Given the description of an element on the screen output the (x, y) to click on. 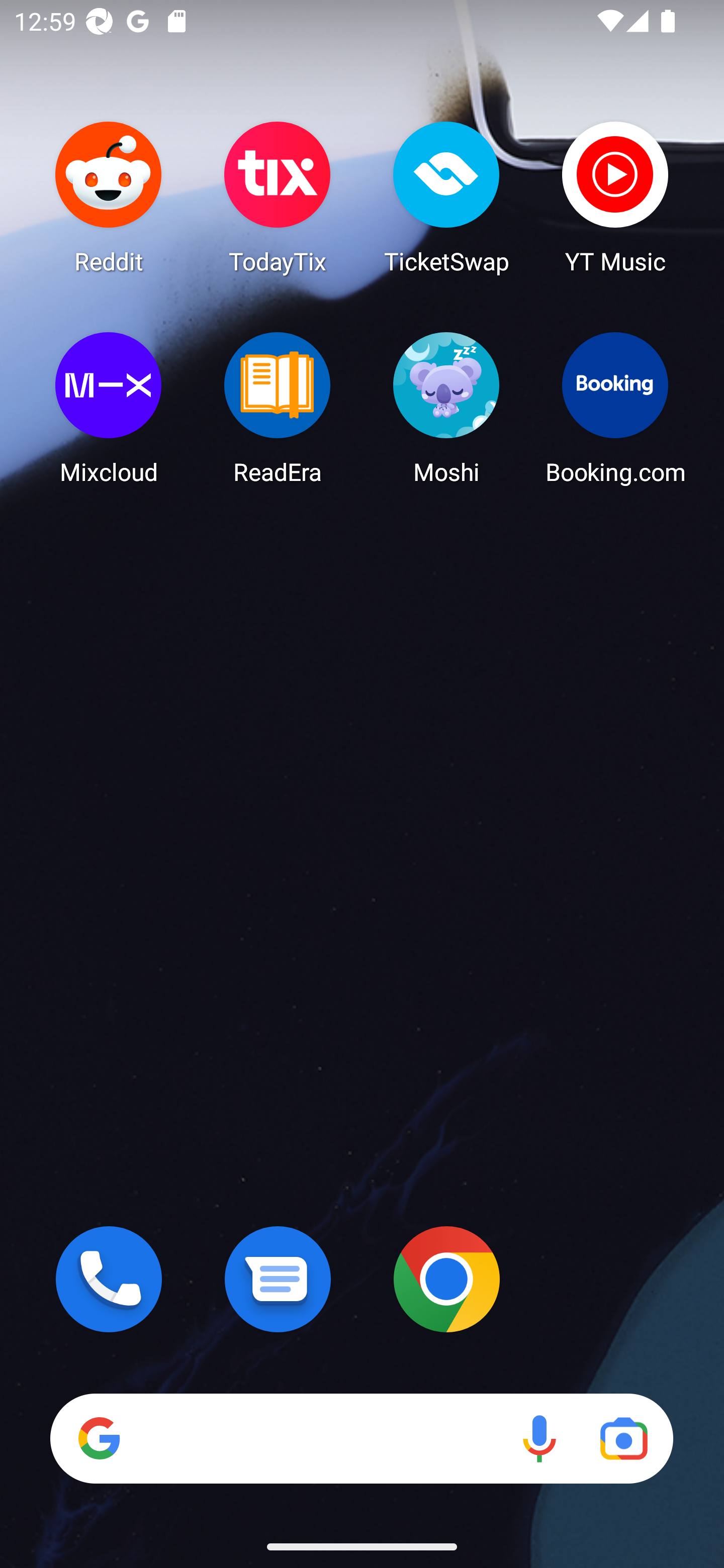
Reddit (108, 196)
TodayTix (277, 196)
TicketSwap (445, 196)
YT Music (615, 196)
Mixcloud (108, 407)
ReadEra (277, 407)
Moshi (445, 407)
Booking.com (615, 407)
Phone (108, 1279)
Messages (277, 1279)
Chrome (446, 1279)
Search Voice search Google Lens (361, 1438)
Voice search (539, 1438)
Google Lens (623, 1438)
